Given the description of an element on the screen output the (x, y) to click on. 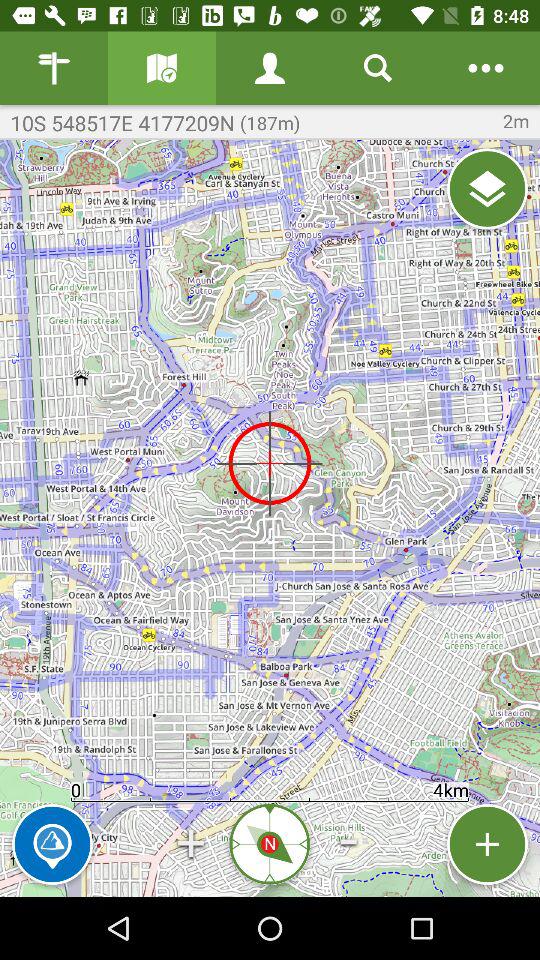
open search bar (378, 68)
